Given the description of an element on the screen output the (x, y) to click on. 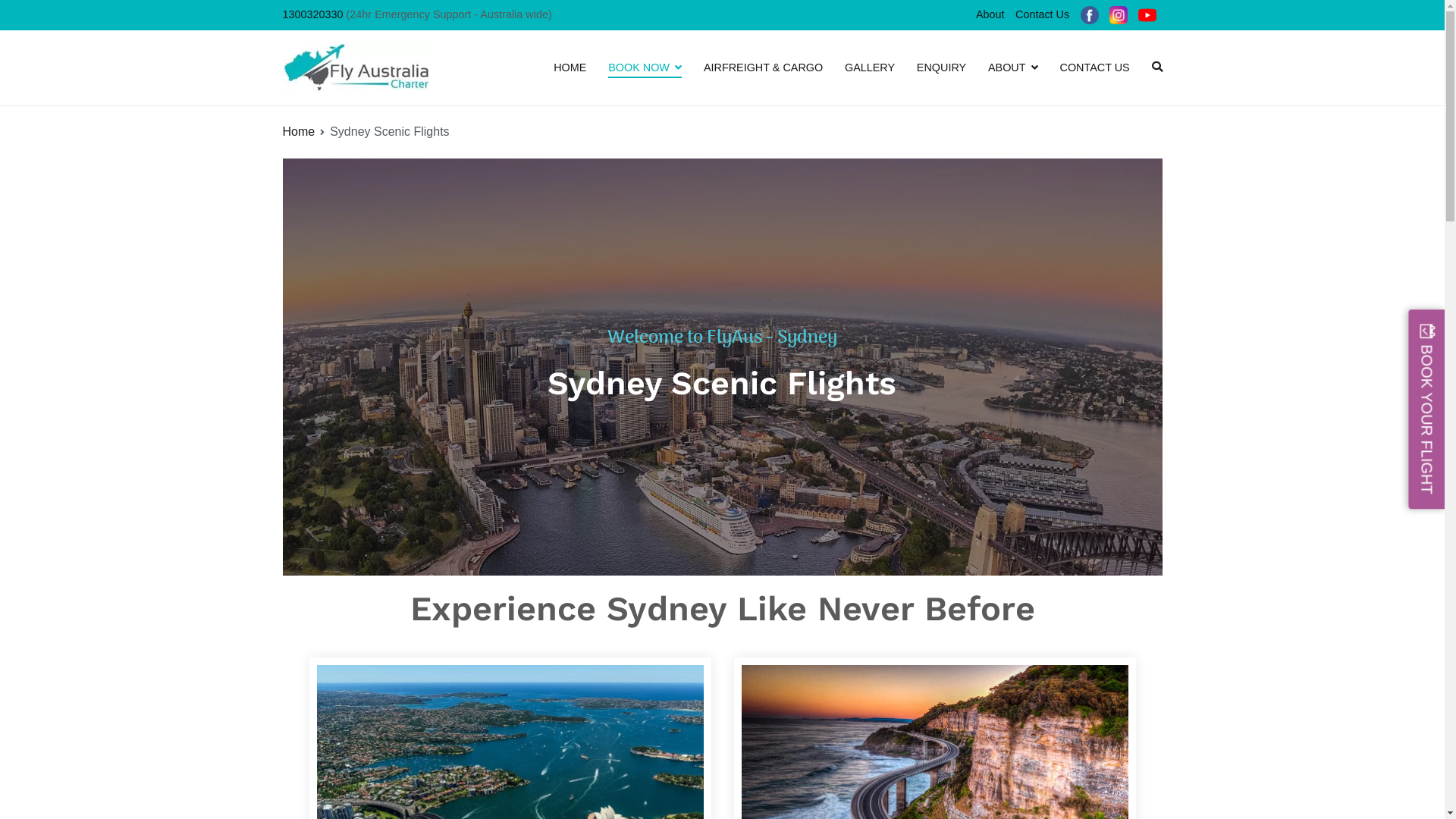
ABOUT Element type: text (1013, 68)
GALLERY Element type: text (869, 68)
AIRFREIGHT & CARGO Element type: text (762, 68)
FlyAus Element type: text (470, 78)
About Element type: text (990, 14)
CONTACT US Element type: text (1094, 68)
1300320330 Element type: text (312, 14)
BOOK NOW Element type: text (644, 68)
Search Element type: text (28, 13)
Contact Us Element type: text (1042, 14)
HOME Element type: text (569, 68)
Home Element type: text (298, 131)
ENQUIRY Element type: text (941, 68)
